Given the description of an element on the screen output the (x, y) to click on. 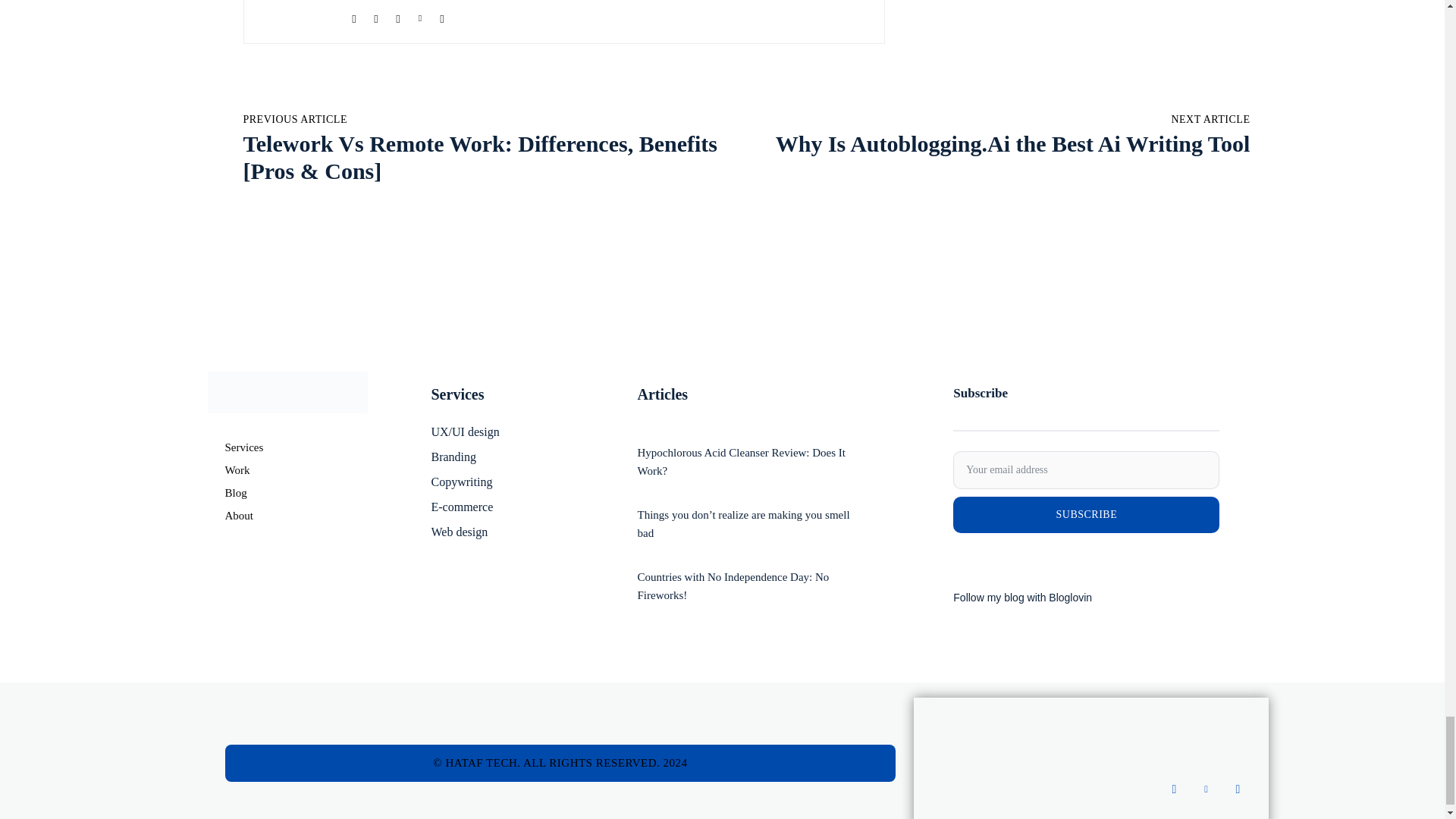
GitHub (354, 16)
RSS (398, 16)
Medium (375, 16)
Website (442, 16)
Twitter (419, 16)
Talha Quraishi (295, 13)
